Given the description of an element on the screen output the (x, y) to click on. 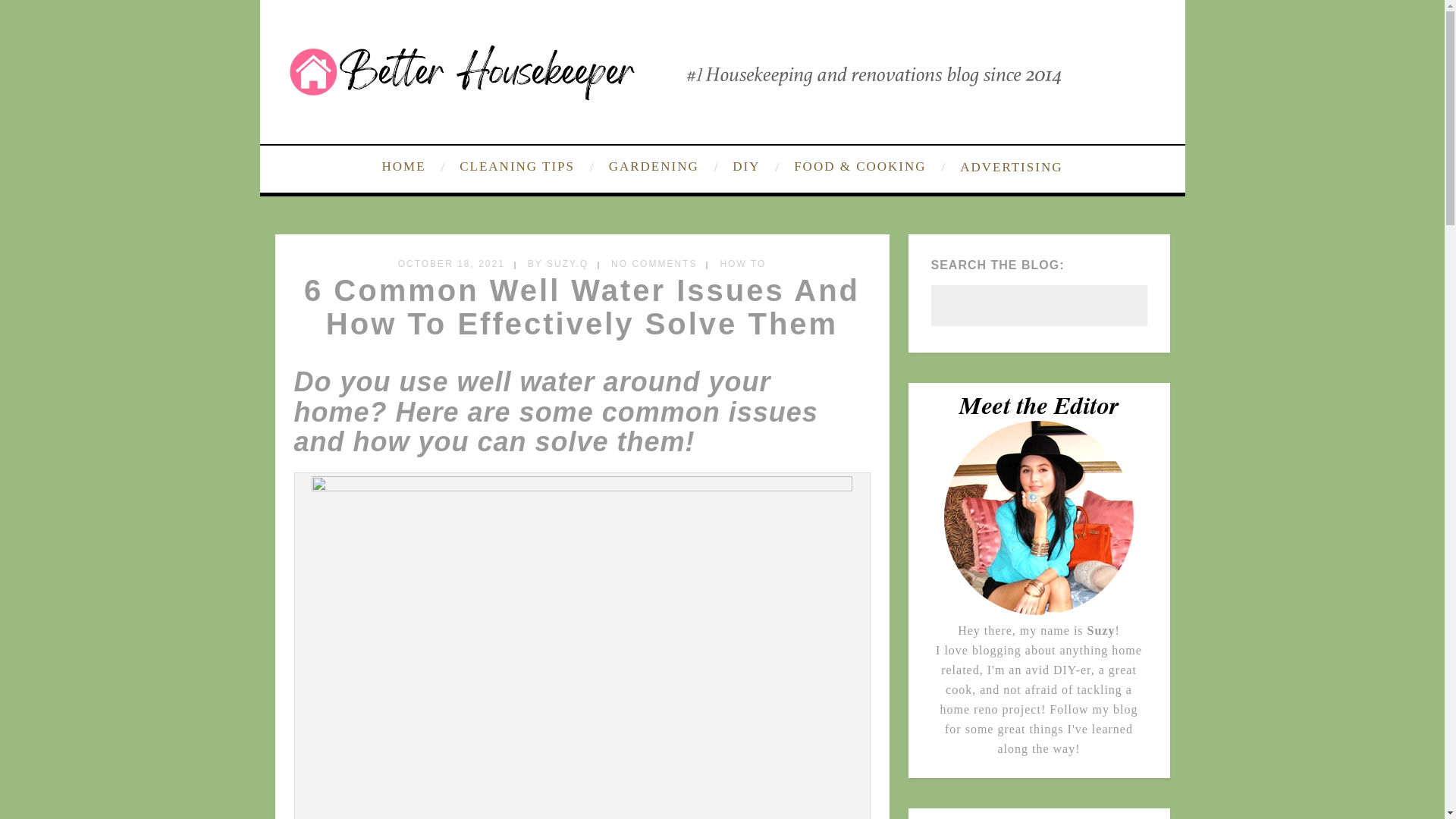
HOME (414, 167)
HOW TO (742, 263)
BY SUZY.Q (557, 263)
NO COMMENTS (654, 263)
DIY (754, 167)
GARDENING (661, 167)
OCTOBER 18, 2021 (451, 263)
CLEANING TIPS (523, 167)
